Given the description of an element on the screen output the (x, y) to click on. 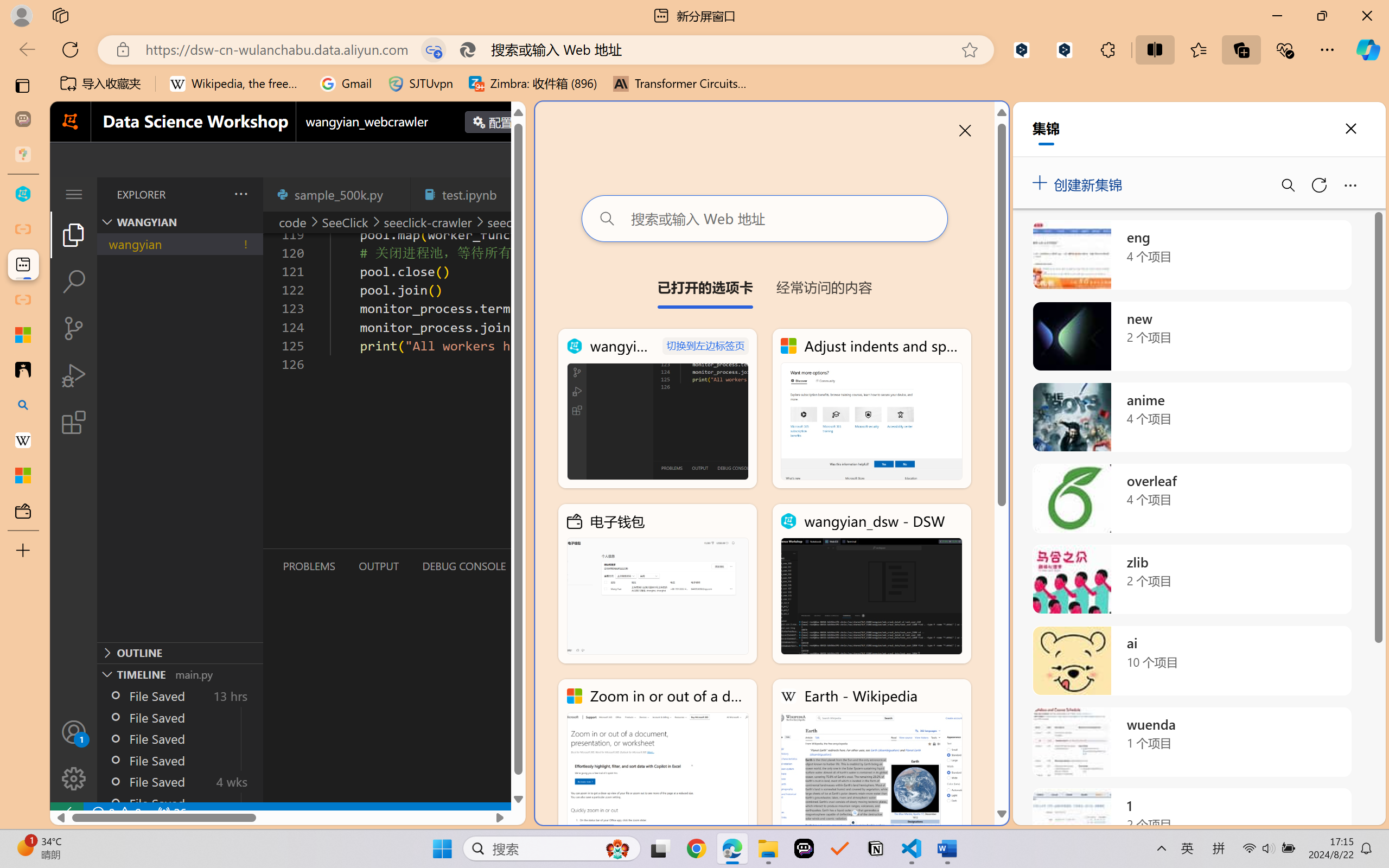
Tab actions (512, 194)
Accounts - Sign in requested (73, 732)
wangyian_dsw - DSW (22, 194)
Views and More Actions... (240, 193)
Earth - Wikipedia (22, 440)
